Given the description of an element on the screen output the (x, y) to click on. 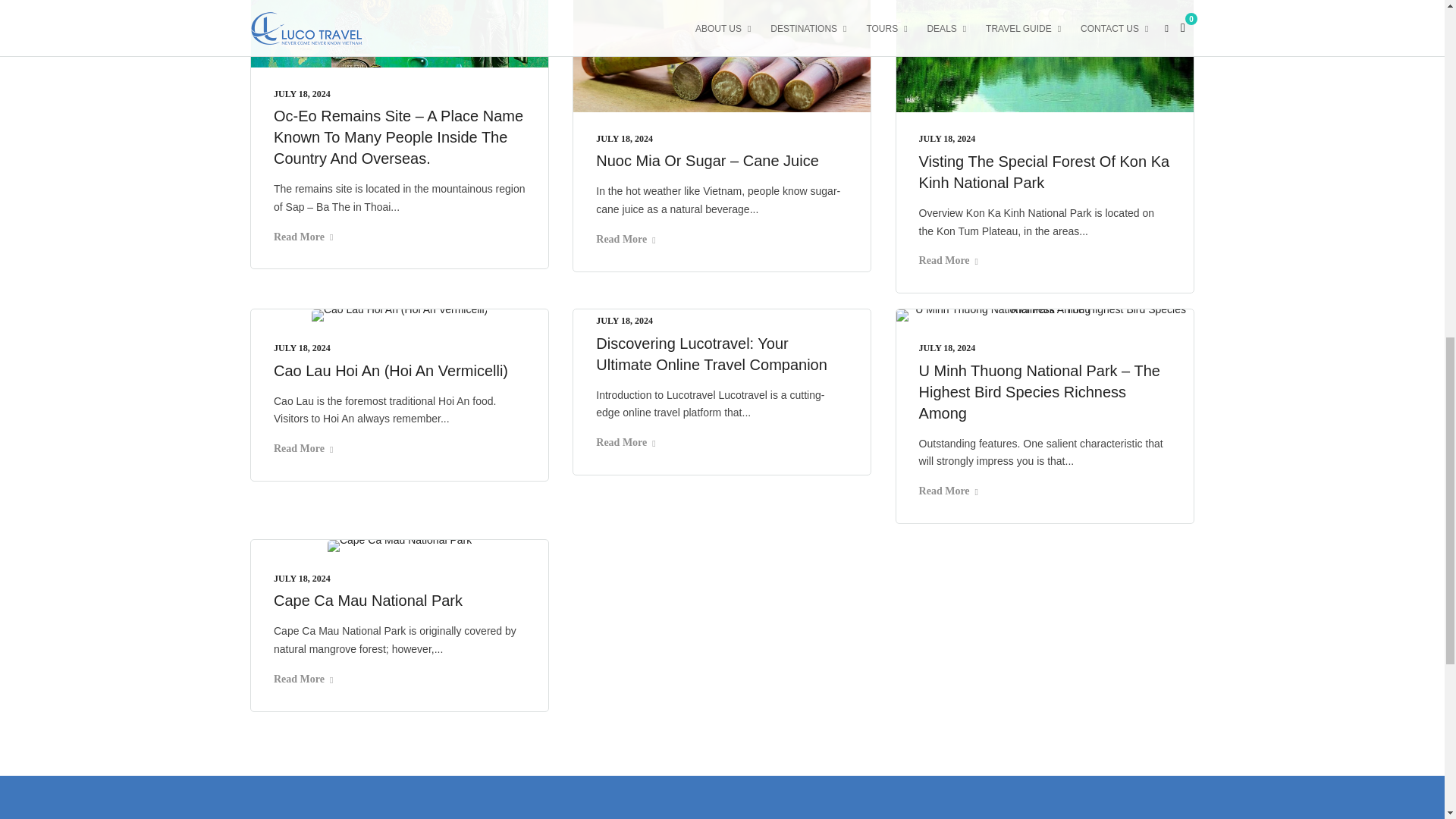
Visting The Special Forest Of Kon Ka Kinh National Park (1044, 171)
Visting The Special Forest Of Kon Ka Kinh National Park (946, 138)
